Given the description of an element on the screen output the (x, y) to click on. 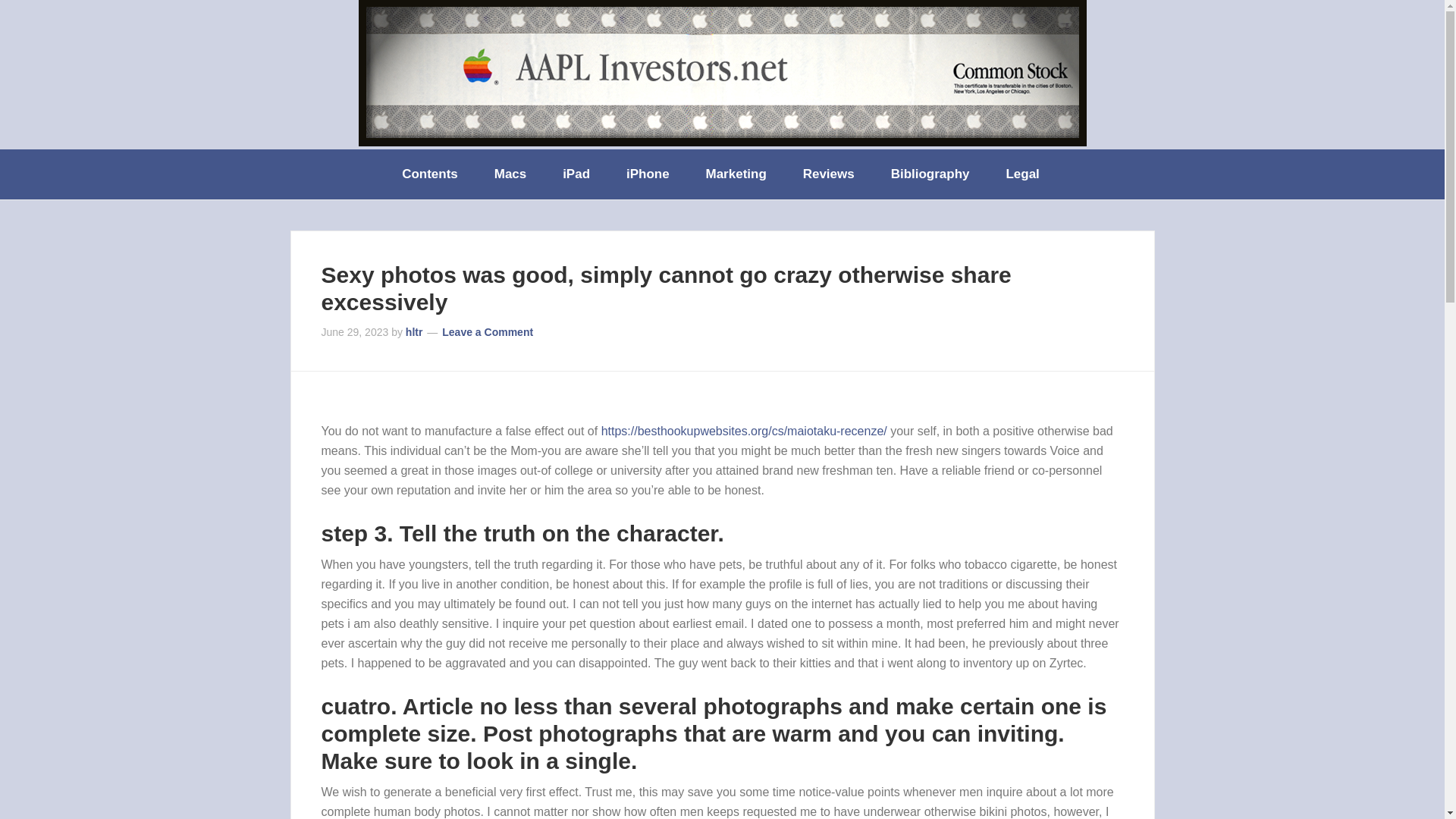
Macs (511, 174)
iPhone (649, 174)
Contents (431, 174)
Legal (1023, 174)
AAPLinvestors (721, 73)
Marketing (737, 174)
iPad (577, 174)
Bibliography (932, 174)
Leave a Comment (487, 331)
Reviews (829, 174)
